Given the description of an element on the screen output the (x, y) to click on. 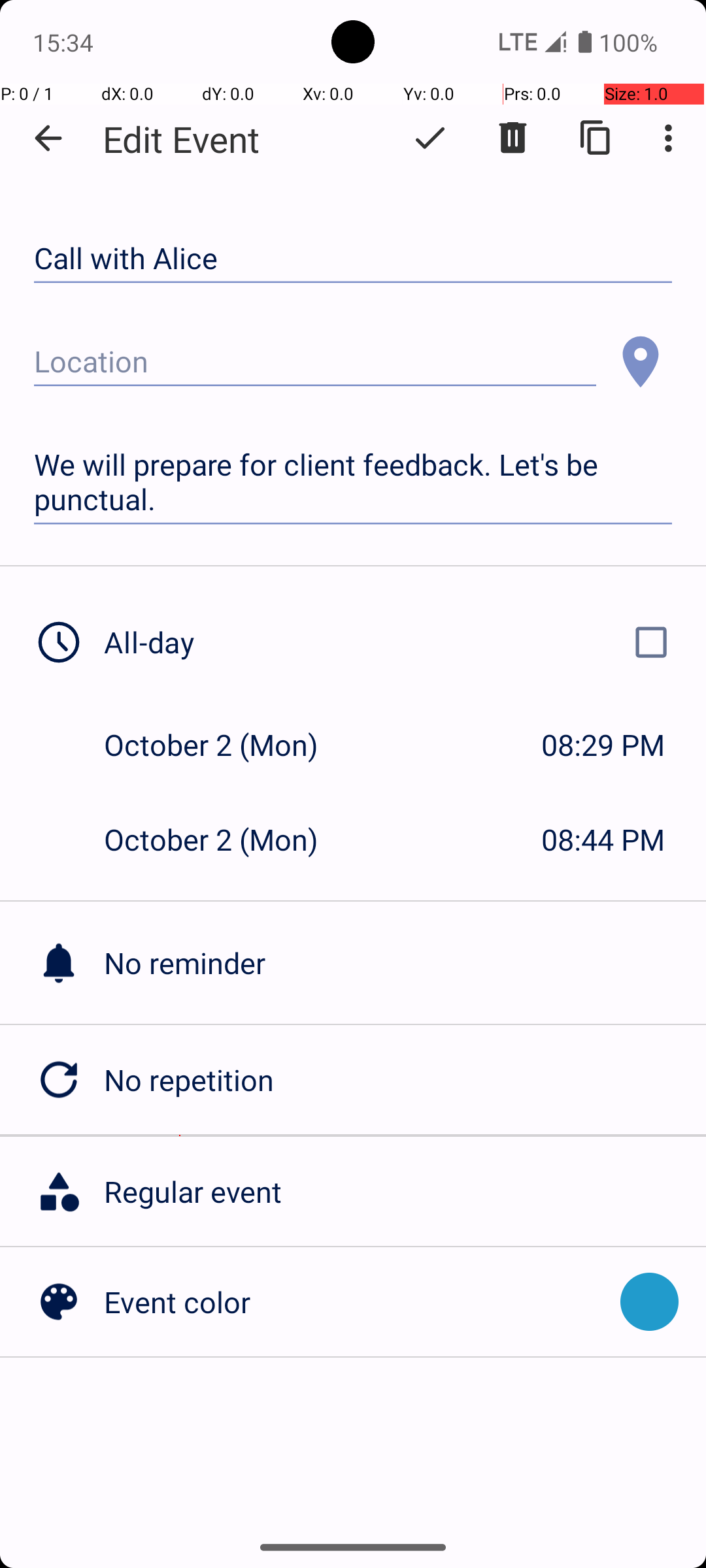
We will prepare for client feedback. Let's be punctual. Element type: android.widget.EditText (352, 482)
October 2 (Mon) Element type: android.widget.TextView (224, 744)
08:29 PM Element type: android.widget.TextView (602, 744)
08:44 PM Element type: android.widget.TextView (602, 838)
